Given the description of an element on the screen output the (x, y) to click on. 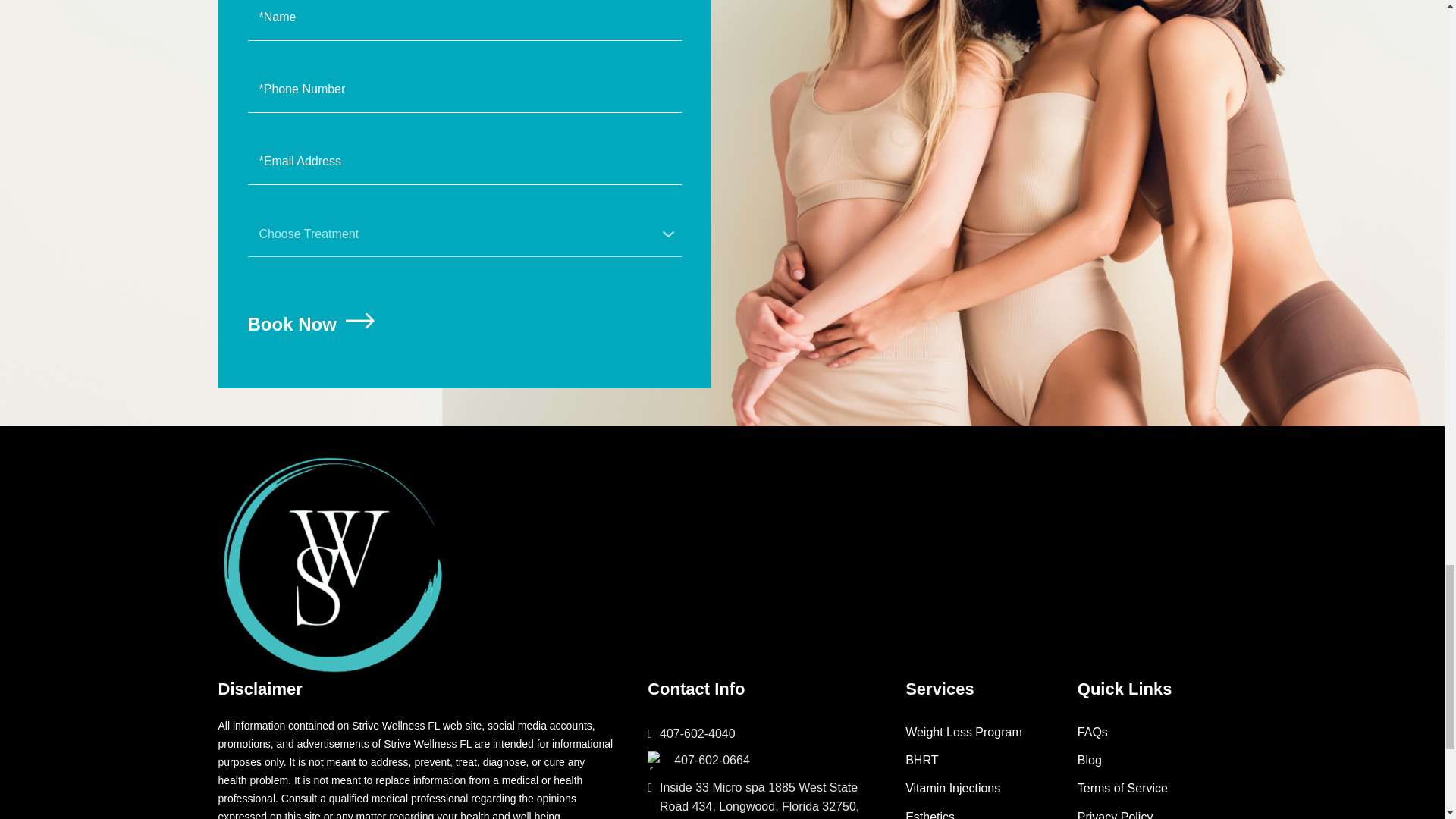
fax (656, 760)
Book Now (314, 324)
sw light (331, 564)
